Given the description of an element on the screen output the (x, y) to click on. 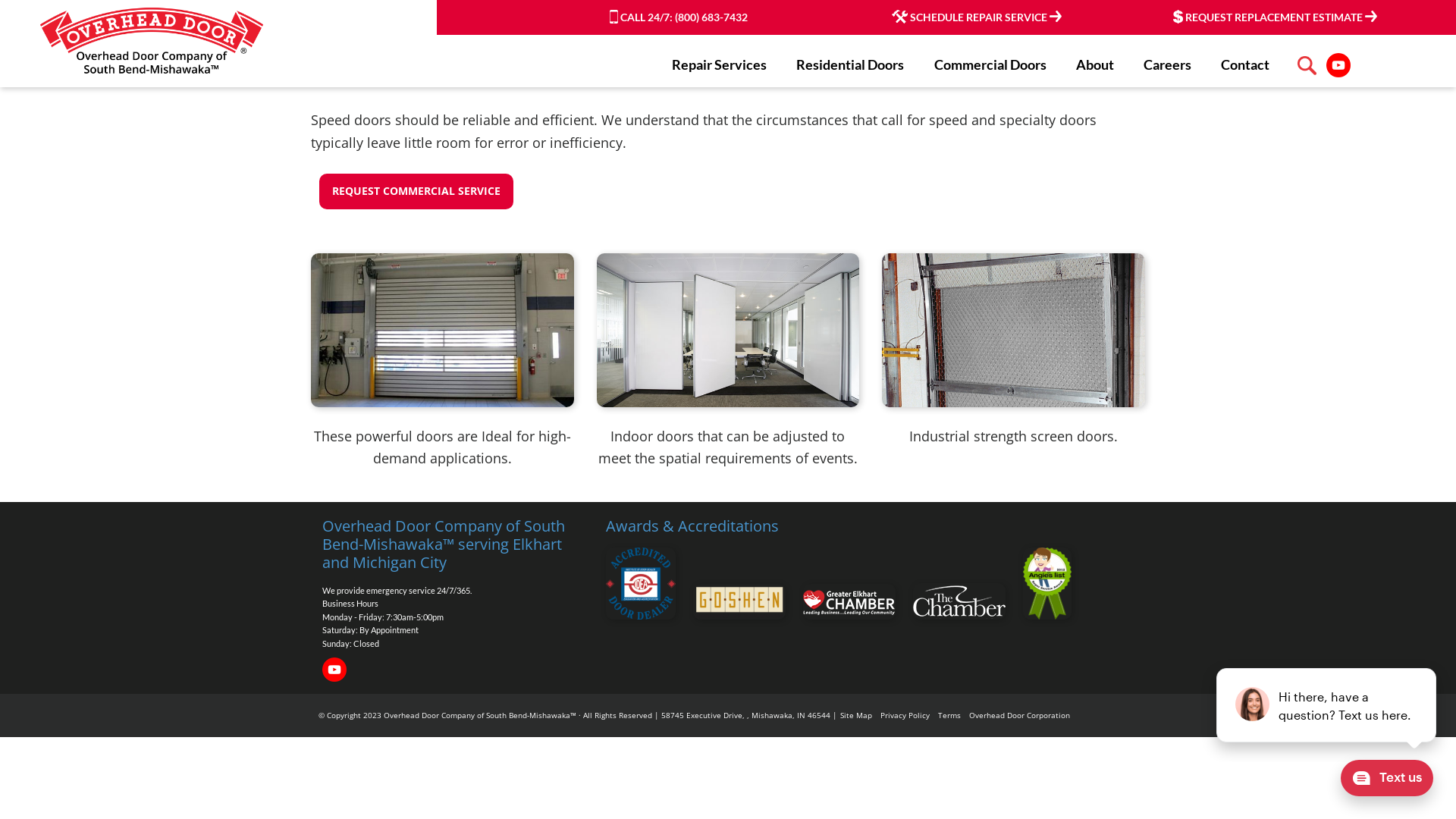
CALL 24/7: (800) 683-7432 Element type: text (678, 16)
Site Map Element type: text (856, 714)
Contact Element type: text (1244, 64)
Overhead Door Corporation Element type: text (1019, 714)
SCHEDULE REPAIR SERVICE Element type: text (976, 16)
REQUEST COMMERCIAL SERVICE Element type: text (416, 191)
Privacy Policy Element type: text (904, 714)
Commercial Doors Element type: text (990, 64)
Repair Services Element type: text (718, 64)
Terms Element type: text (949, 714)
About Element type: text (1094, 64)
REQUEST REPLACEMENT ESTIMATE Element type: text (1275, 16)
Residential Doors Element type: text (849, 64)
Careers Element type: text (1167, 64)
